Given the description of an element on the screen output the (x, y) to click on. 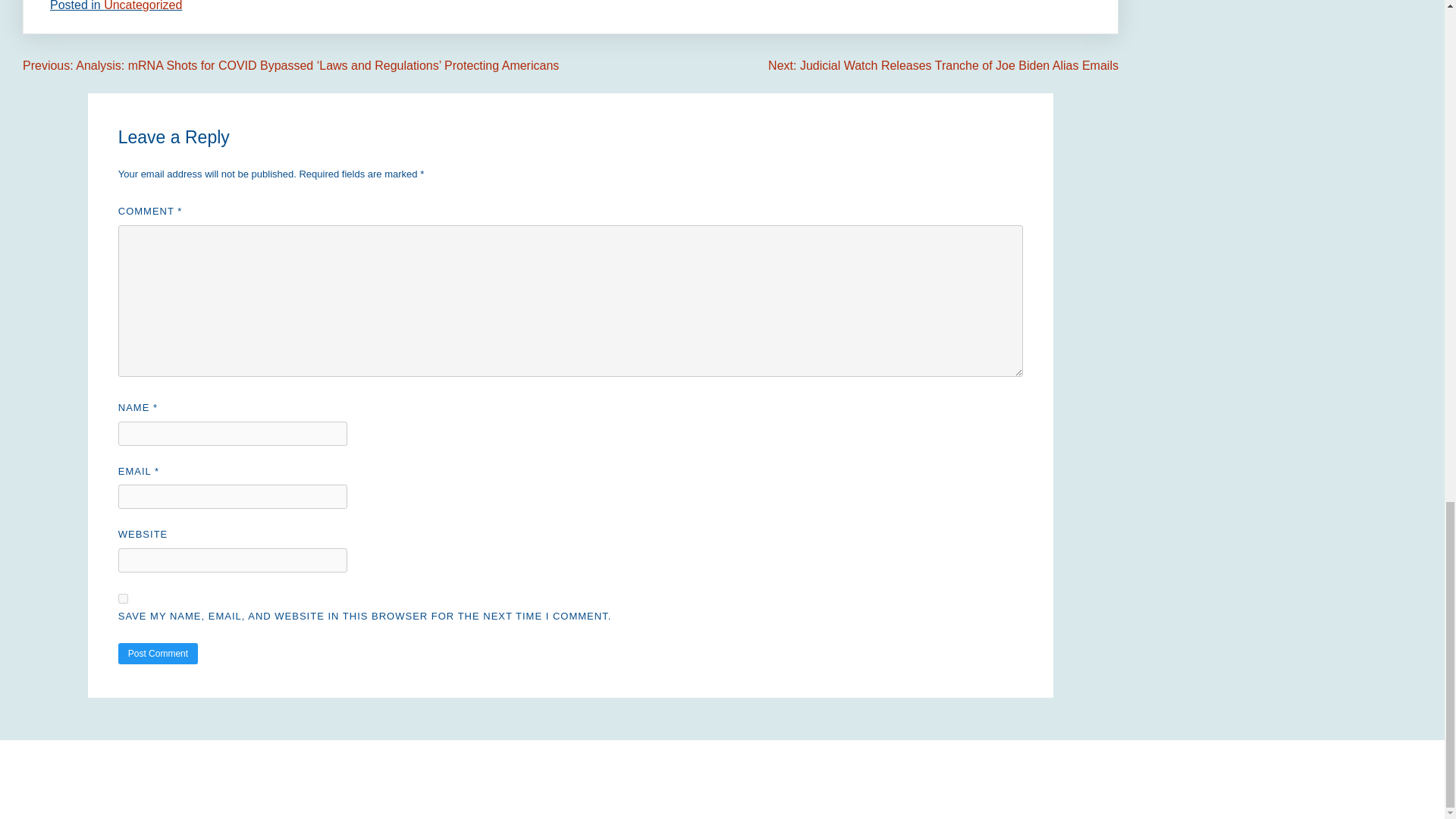
Post Comment (157, 653)
Post Comment (157, 653)
yes (122, 598)
Uncategorized (142, 5)
